Given the description of an element on the screen output the (x, y) to click on. 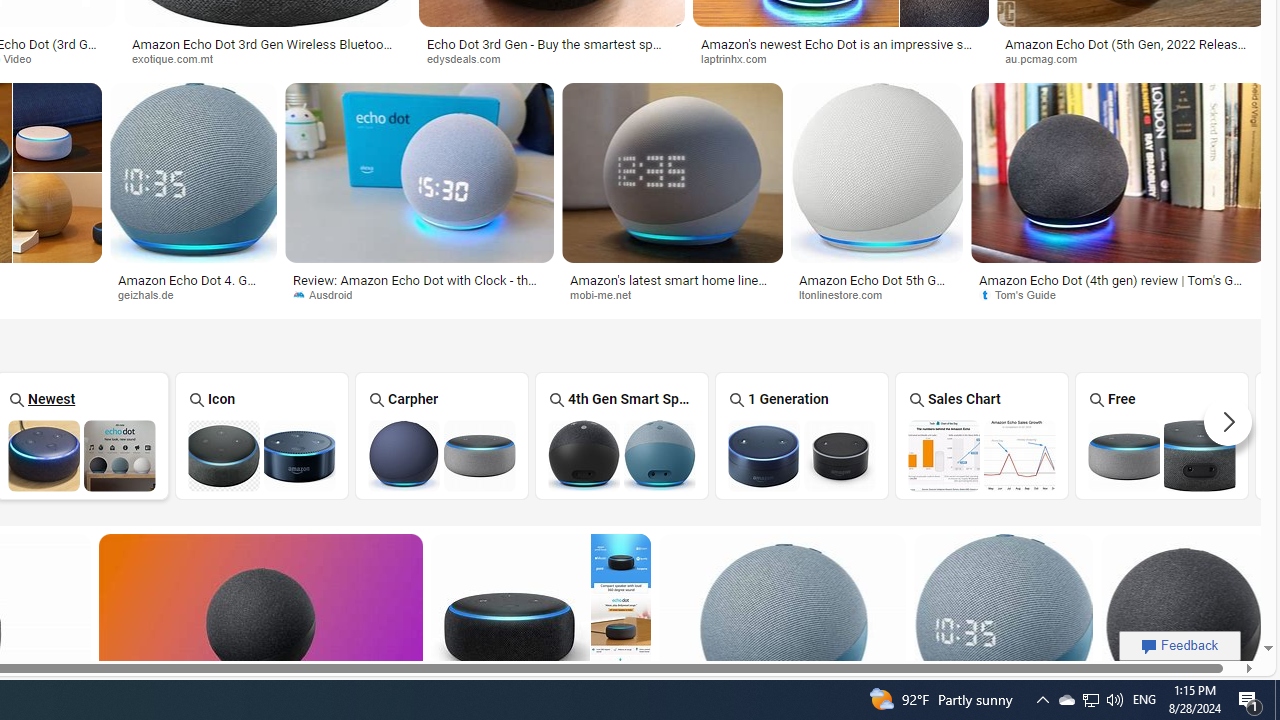
Amazon Echo Dot Carpher Carpher (441, 435)
Newest Amazon Echo Dot (81, 455)
geizhals.de (152, 294)
Free Amazon Echo Dot (1162, 455)
Amazon Echo Dot Carpher (441, 455)
